Given the description of an element on the screen output the (x, y) to click on. 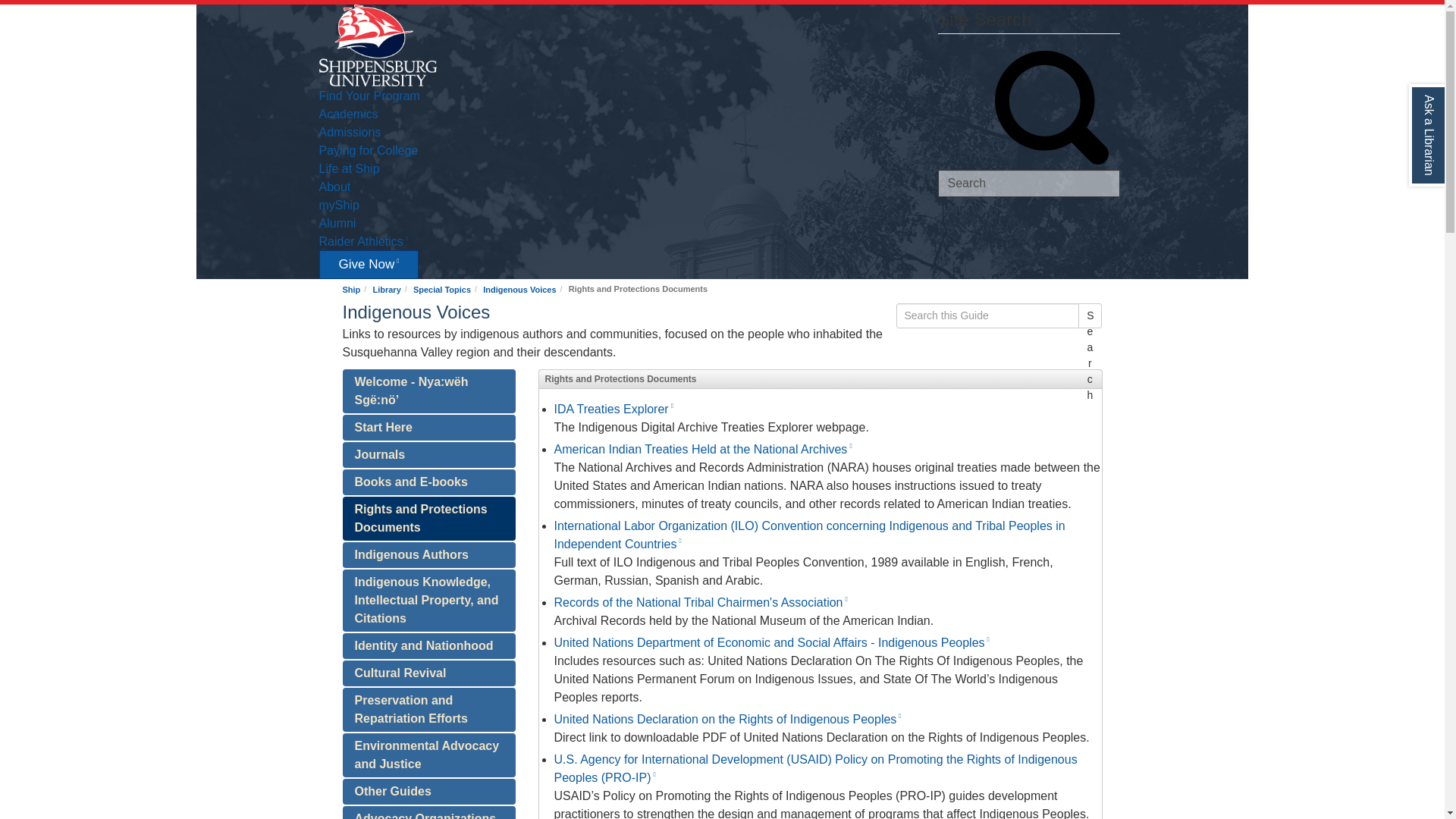
Search Ship (1028, 183)
Shippensburg University (376, 44)
Life at Ship (348, 167)
Find Your Program (368, 94)
Paying for College (367, 149)
Admissions (349, 131)
Academics (347, 112)
